Given the description of an element on the screen output the (x, y) to click on. 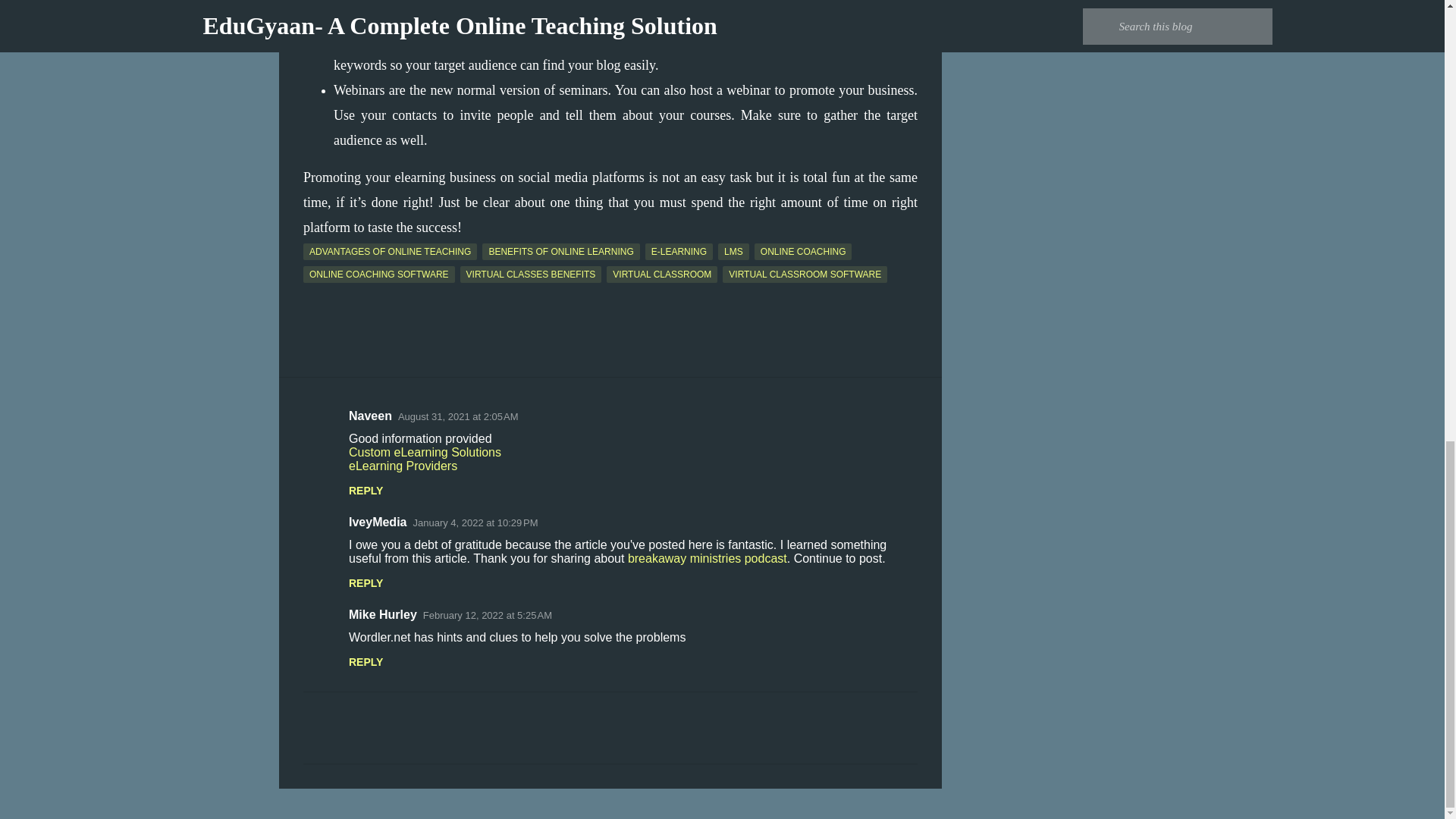
eLearning Providers (403, 465)
ONLINE COACHING (802, 251)
Custom eLearning Solutions (424, 451)
LMS (733, 251)
E-LEARNING (679, 251)
VIRTUAL CLASSES BENEFITS (531, 274)
VIRTUAL CLASSROOM SOFTWARE (804, 274)
Naveen (370, 415)
REPLY (365, 662)
BENEFITS OF ONLINE LEARNING (560, 251)
